Given the description of an element on the screen output the (x, y) to click on. 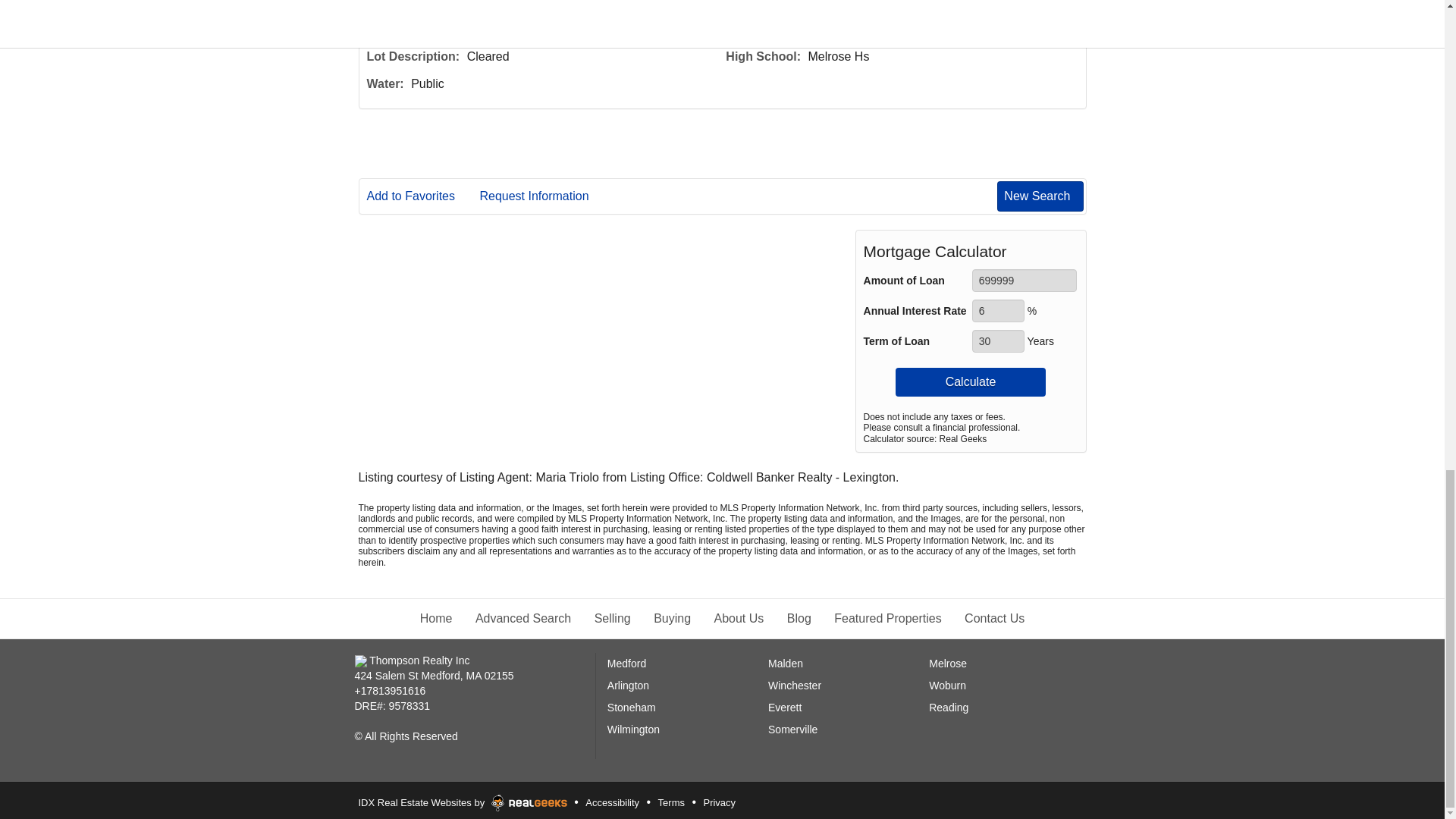
699999 (1024, 280)
30 (998, 341)
6 (998, 310)
